Given the description of an element on the screen output the (x, y) to click on. 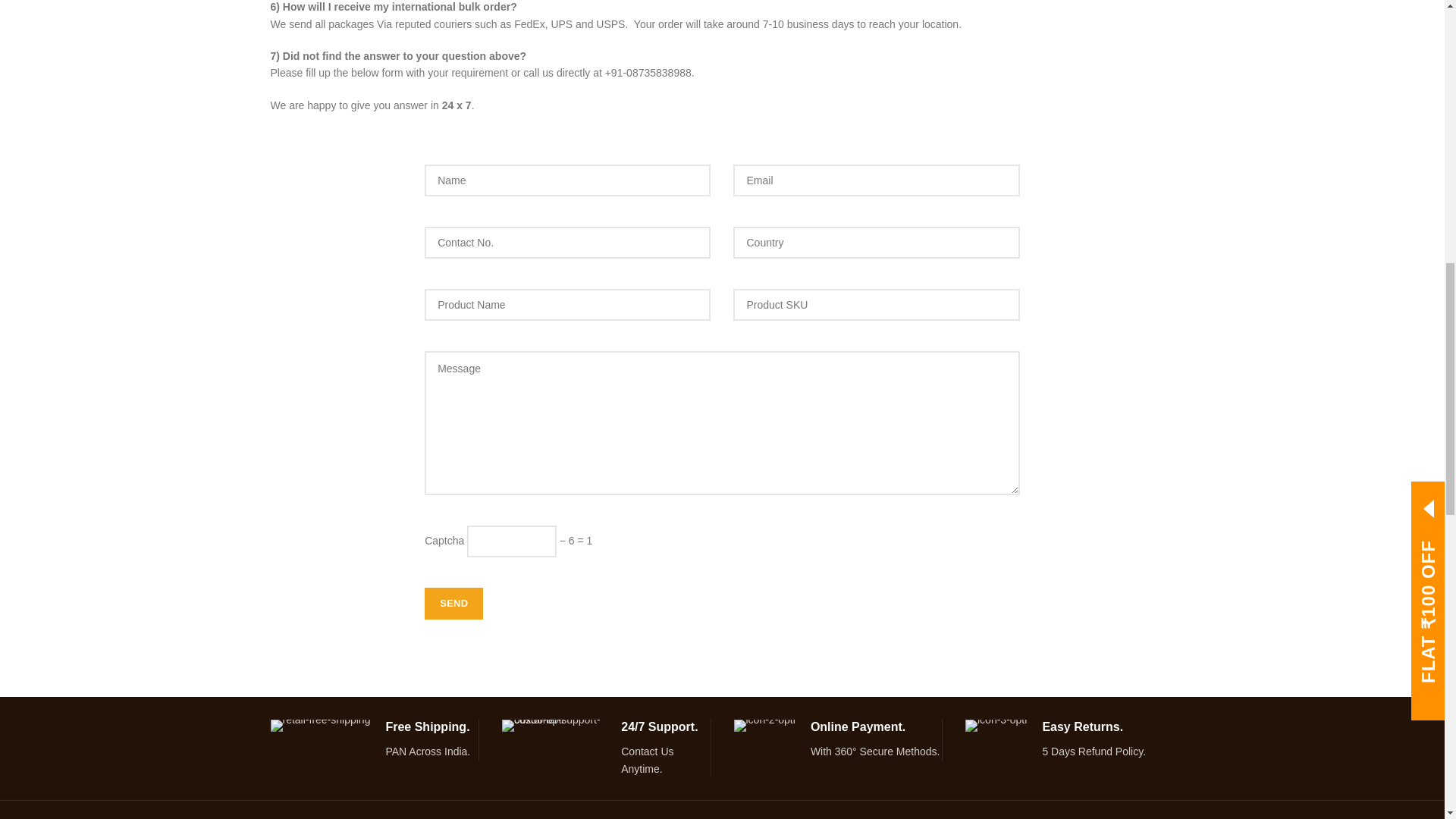
Send (454, 603)
